Given the description of an element on the screen output the (x, y) to click on. 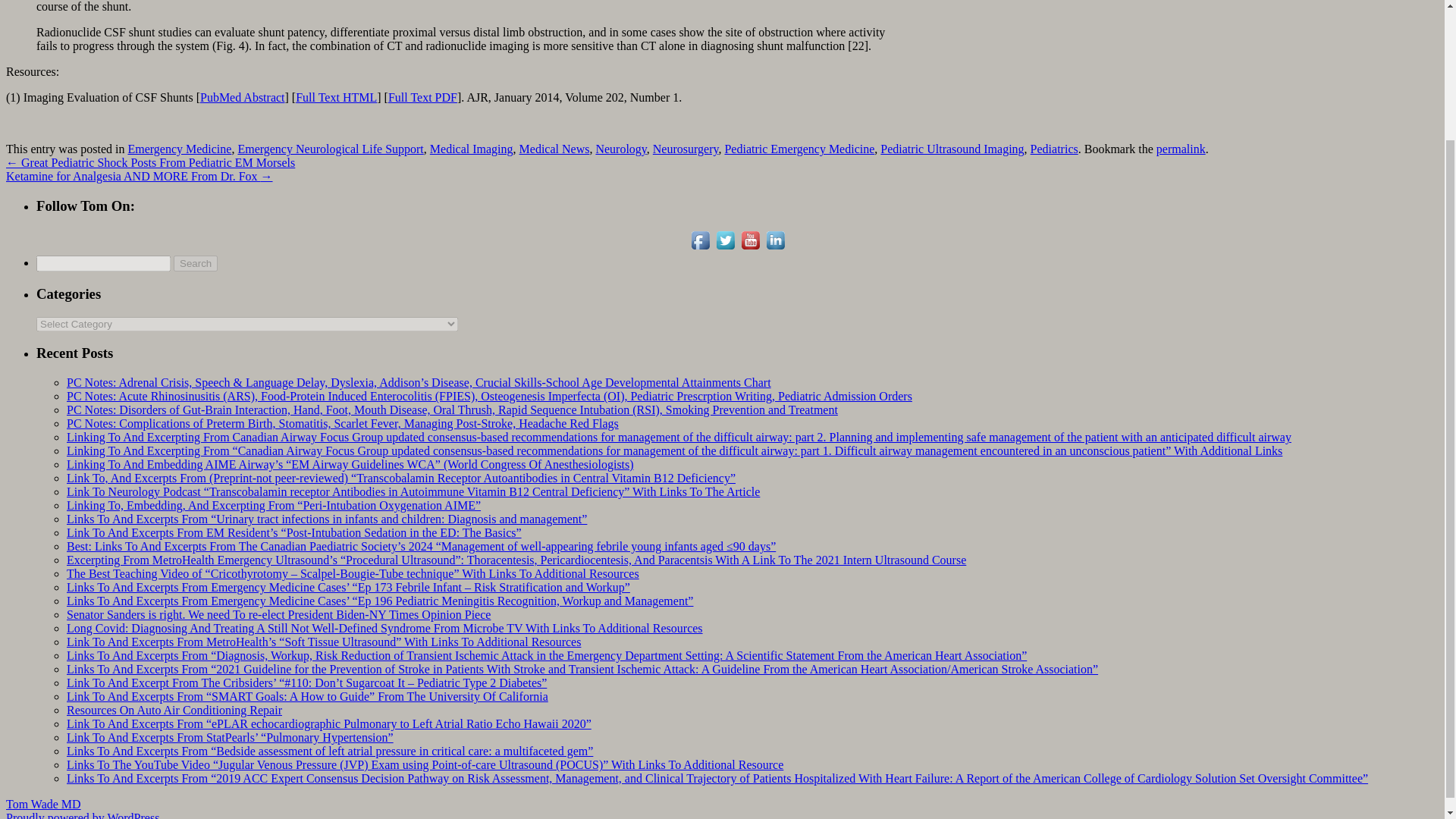
permalink (1180, 148)
Emergency Medicine (179, 148)
Neurology (620, 148)
Visit Us On Twitter (725, 247)
Search (194, 263)
Neurosurgery (685, 148)
Visit Us On Linkedin (774, 247)
Pediatric Emergency Medicine (799, 148)
Emergency Neurological Life Support (330, 148)
PubMed Abstract (242, 97)
Pediatrics (1054, 148)
Visit Us On Youtube (748, 247)
Pediatric Ultrasound Imaging (951, 148)
Visit Us On Facebook (699, 247)
Full Text PDF (422, 97)
